Given the description of an element on the screen output the (x, y) to click on. 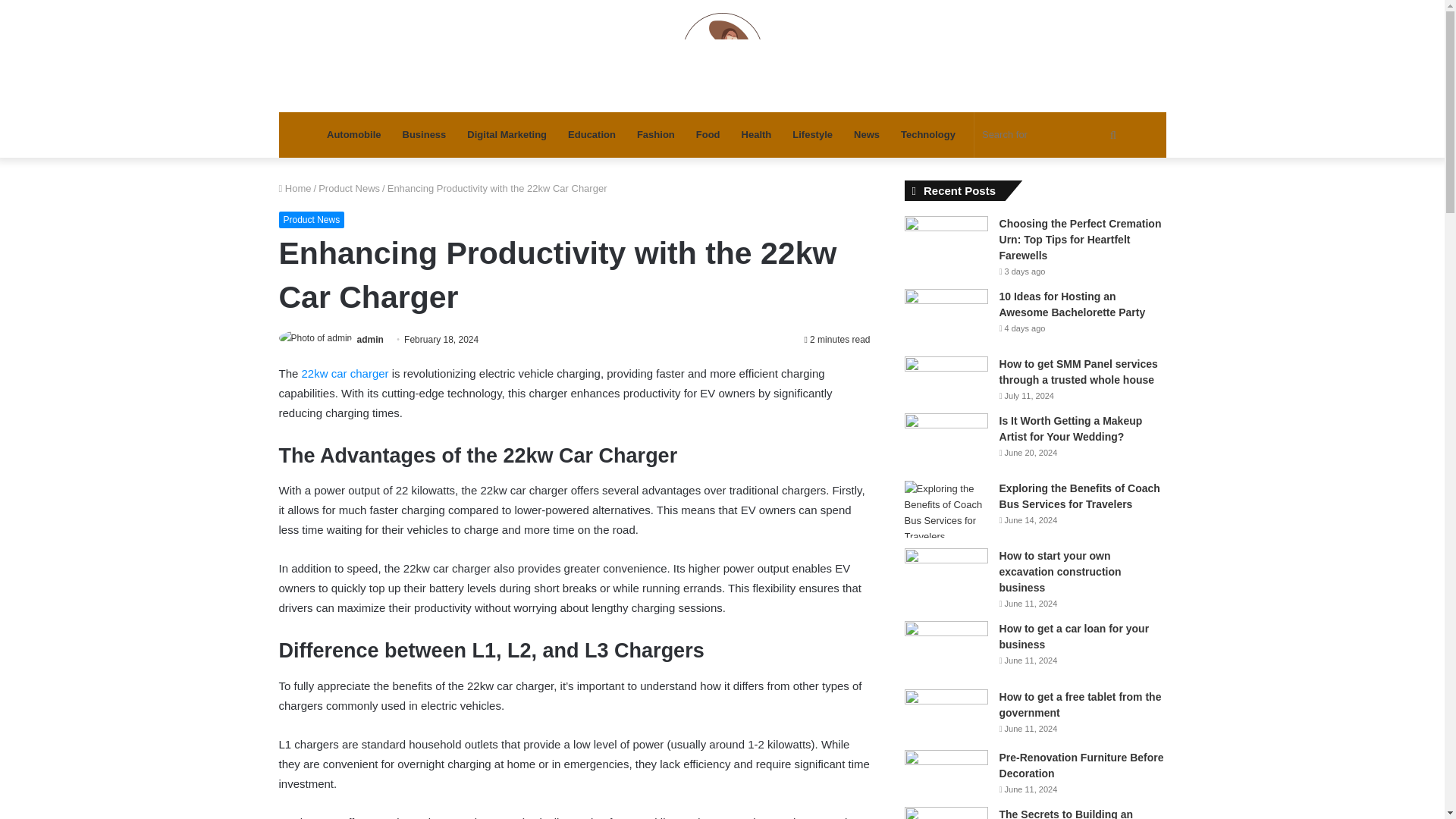
Fashion (655, 135)
Lifestyle (812, 135)
Product News (312, 219)
22kw car charger (344, 373)
Smartfashionweb.com (721, 56)
admin (370, 339)
Technology (927, 135)
Home (295, 188)
Search for (1051, 135)
News (866, 135)
